Given the description of an element on the screen output the (x, y) to click on. 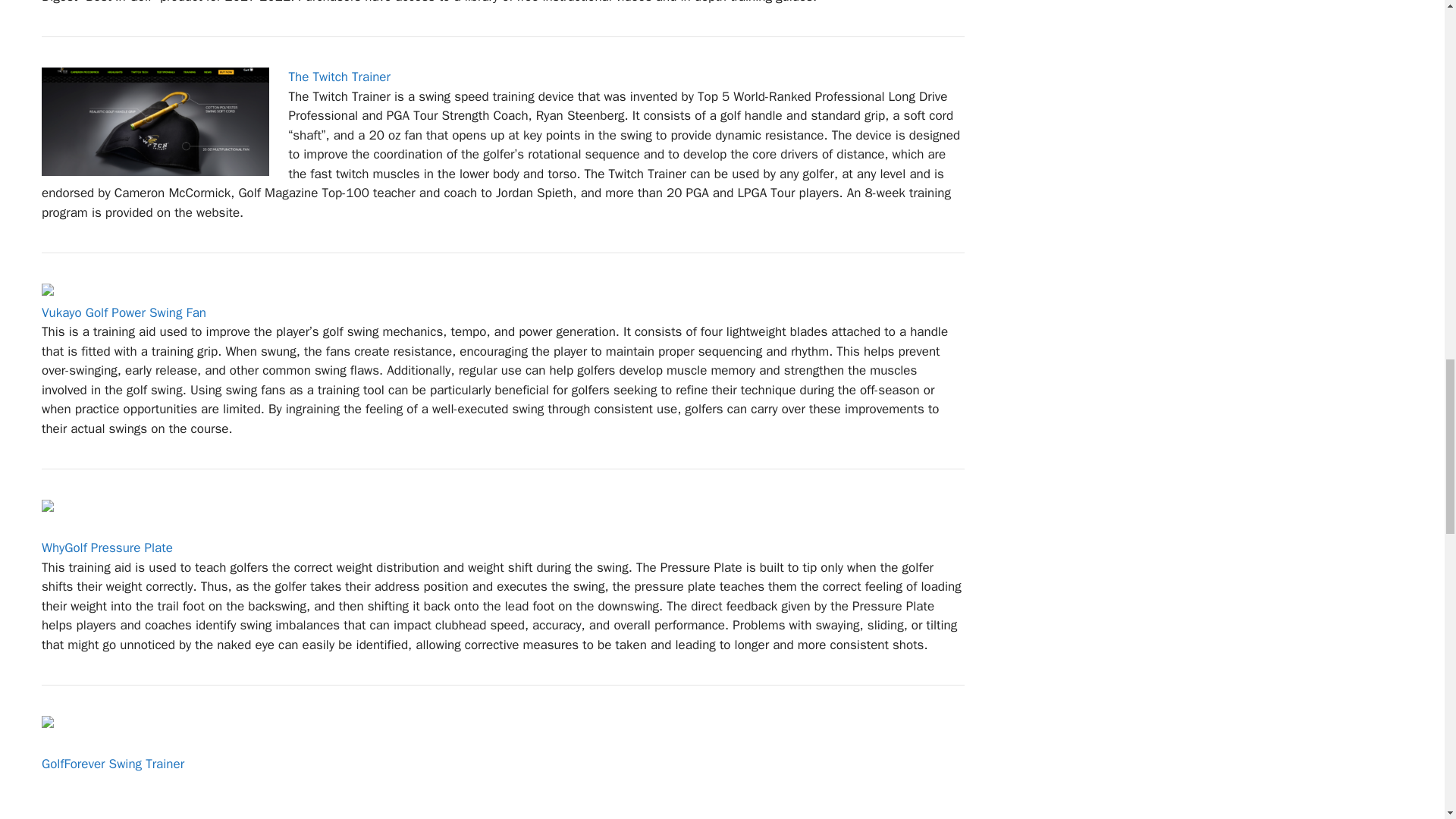
WhyGolf Pressure Plate (107, 547)
Vukayo Golf Power Swing Fan (124, 312)
GolfForever Swing Trainer (113, 763)
The Twitch Trainer (339, 76)
